Given the description of an element on the screen output the (x, y) to click on. 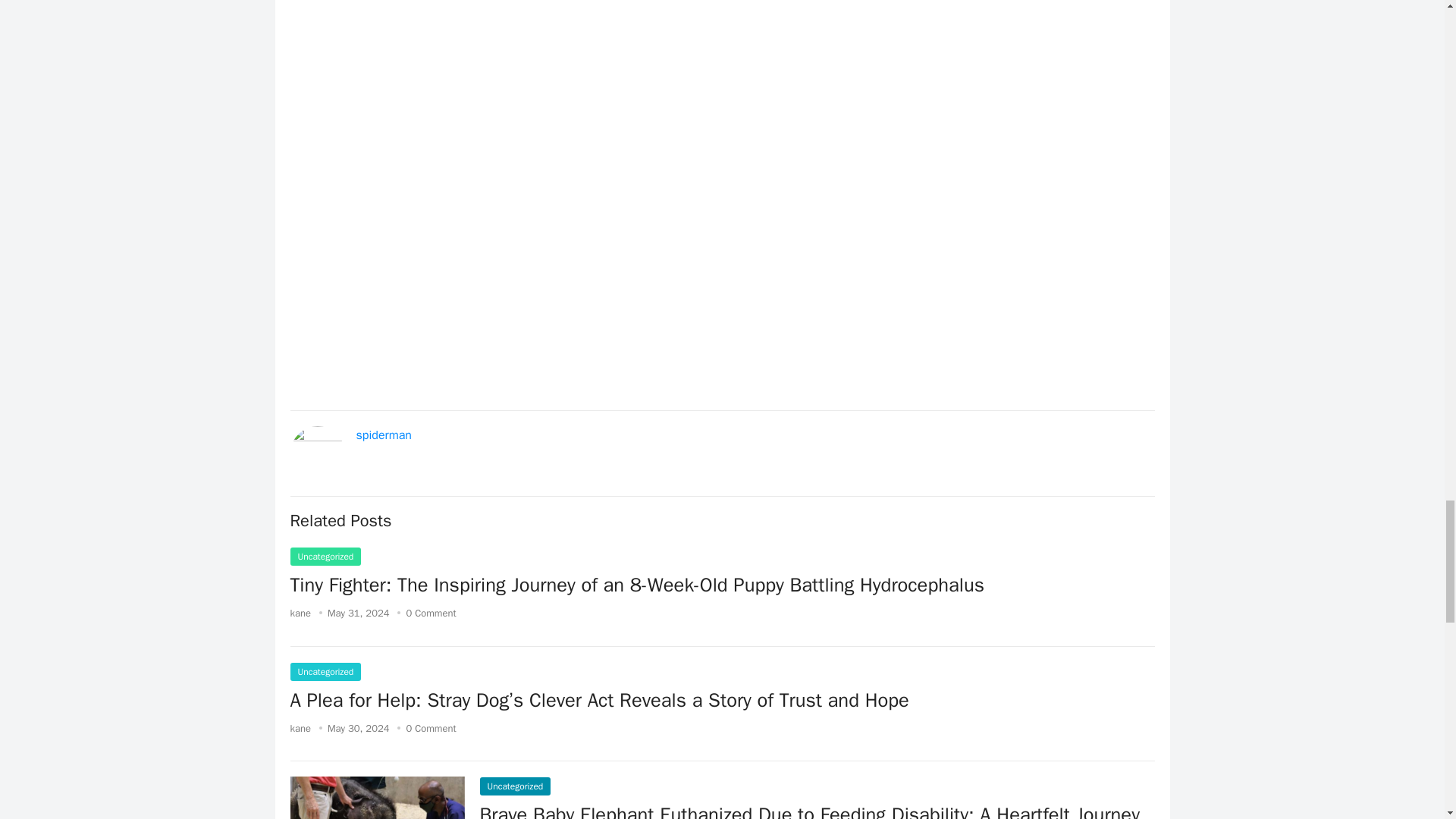
Uncategorized (325, 556)
Posts by kane (300, 727)
Posts by kane (300, 612)
kane (300, 727)
0 Comment (430, 727)
0 Comment (430, 612)
Uncategorized (325, 671)
Uncategorized (514, 786)
spiderman (384, 435)
kane (300, 612)
